Given the description of an element on the screen output the (x, y) to click on. 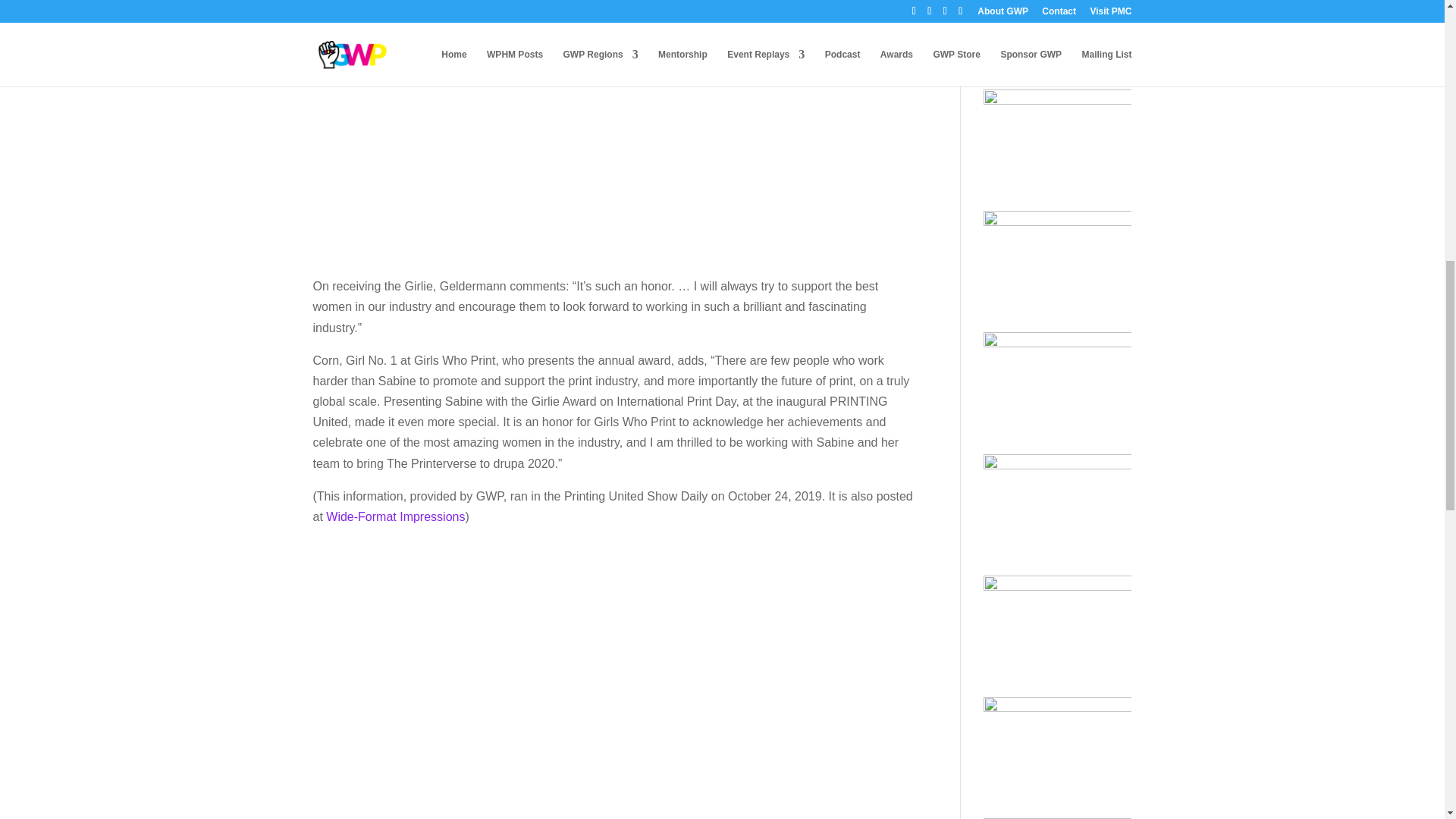
womensprintnetworking.com (389, 1)
Wide-Format Impressions (395, 516)
